Given the description of an element on the screen output the (x, y) to click on. 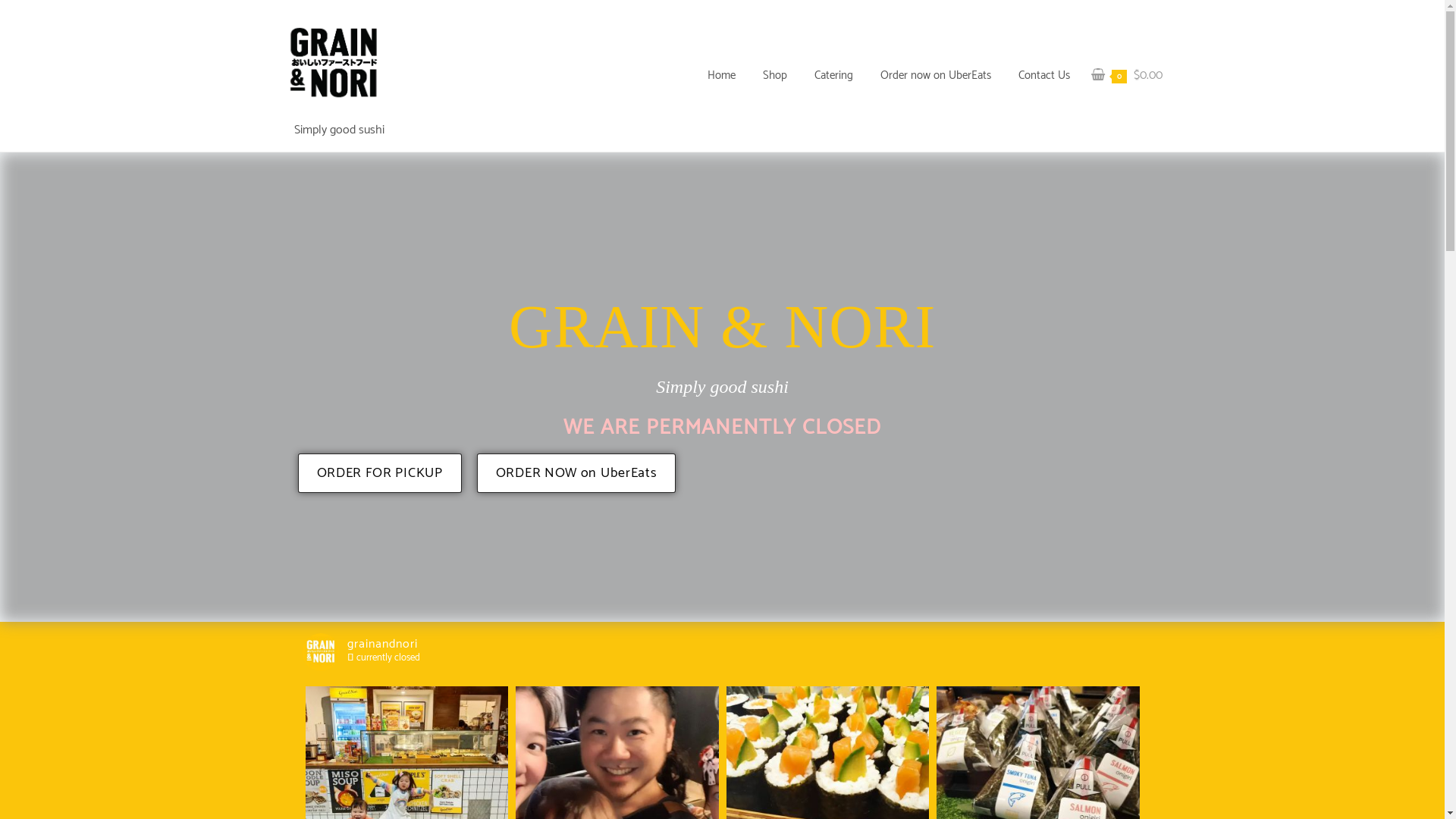
0 $0.00 Element type: text (1125, 75)
Shop Element type: text (774, 75)
Contact Us Element type: text (1043, 75)
ORDER NOW on UberEats Element type: text (576, 472)
Home Element type: text (720, 75)
Catering Element type: text (833, 75)
Order now on UberEats Element type: text (935, 75)
ORDER FOR PICKUP Element type: text (379, 472)
